Given the description of an element on the screen output the (x, y) to click on. 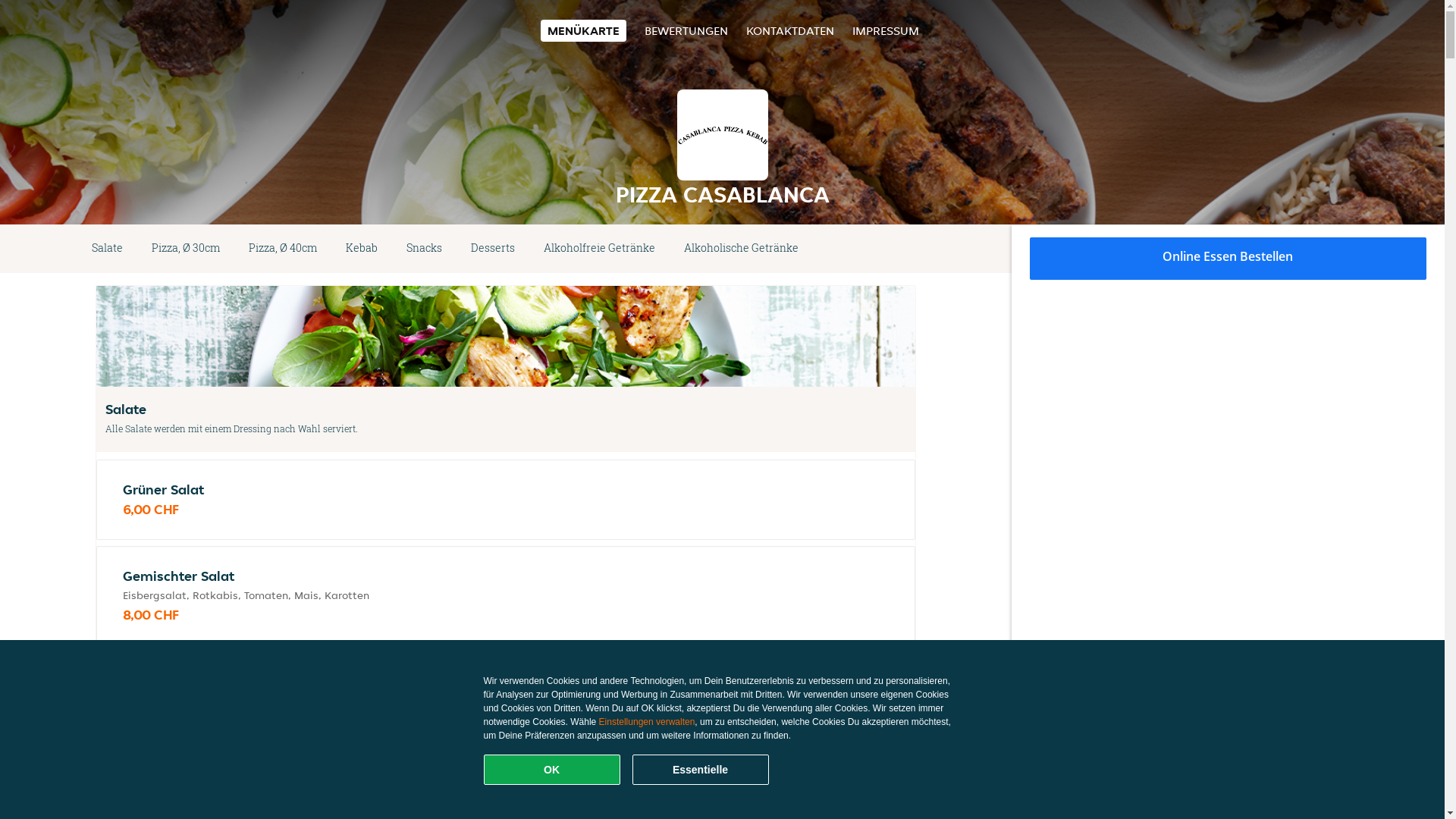
Einstellungen verwalten Element type: text (647, 721)
Online Essen Bestellen Element type: text (1228, 258)
BEWERTUNGEN Element type: text (686, 30)
OK Element type: text (551, 769)
Tomatensalat
mit Tomaten und Zwiebeln
7,00 CHF Element type: text (505, 700)
IMPRESSUM Element type: text (885, 30)
KONTAKTDATEN Element type: text (790, 30)
Desserts Element type: text (492, 248)
Snacks Element type: text (424, 248)
Kebab Element type: text (361, 248)
Salate Element type: text (107, 248)
Essentielle Element type: text (700, 769)
